Given the description of an element on the screen output the (x, y) to click on. 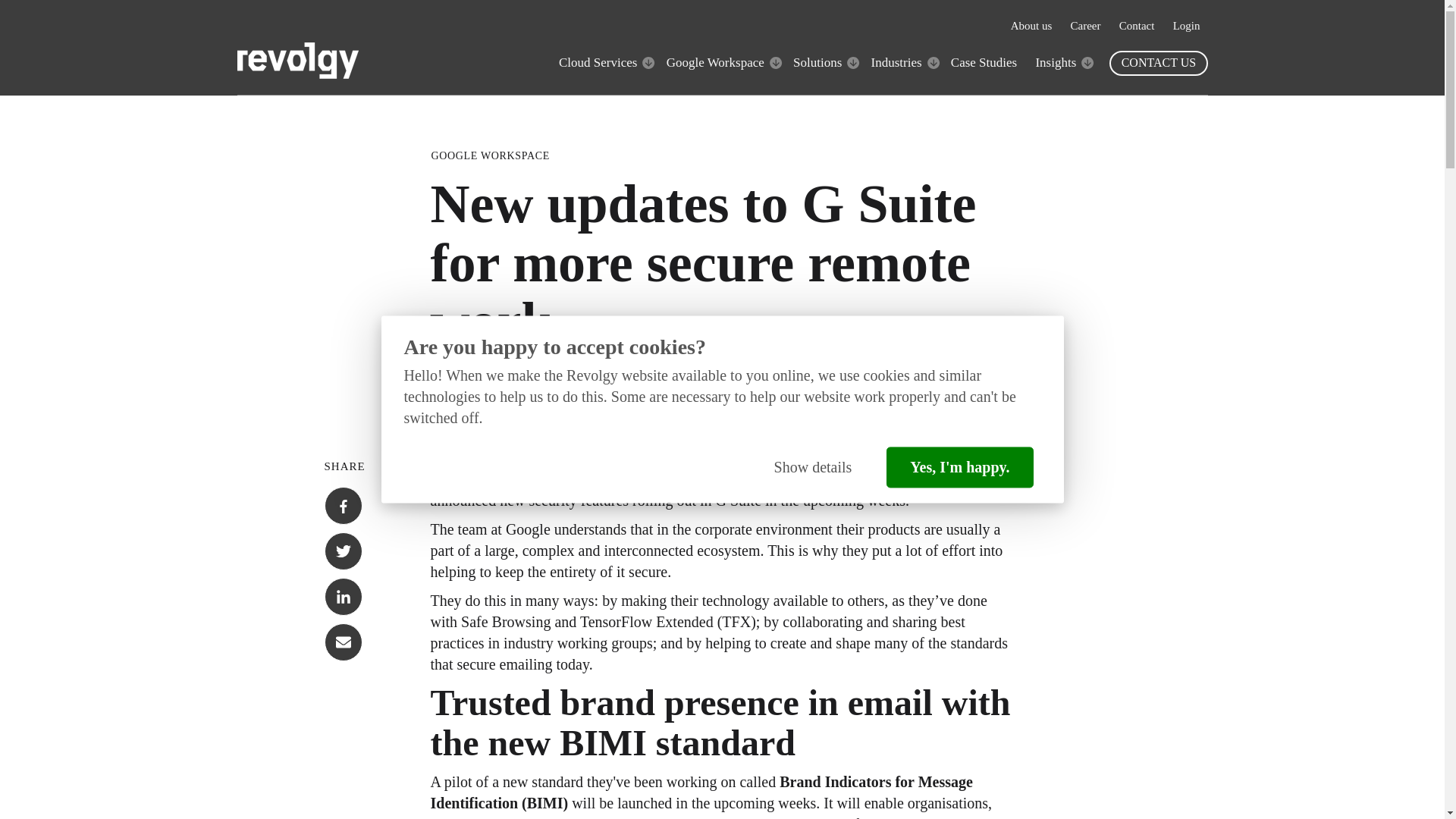
Cloud Services (598, 62)
Career (1085, 25)
Insights (1055, 62)
Show details (813, 467)
Case Studies (983, 62)
Solutions (817, 62)
Login (1186, 25)
Yes, I'm happy. (959, 467)
Industries (895, 62)
Contact (1136, 25)
About us (1031, 25)
Google Workspace (715, 62)
